Given the description of an element on the screen output the (x, y) to click on. 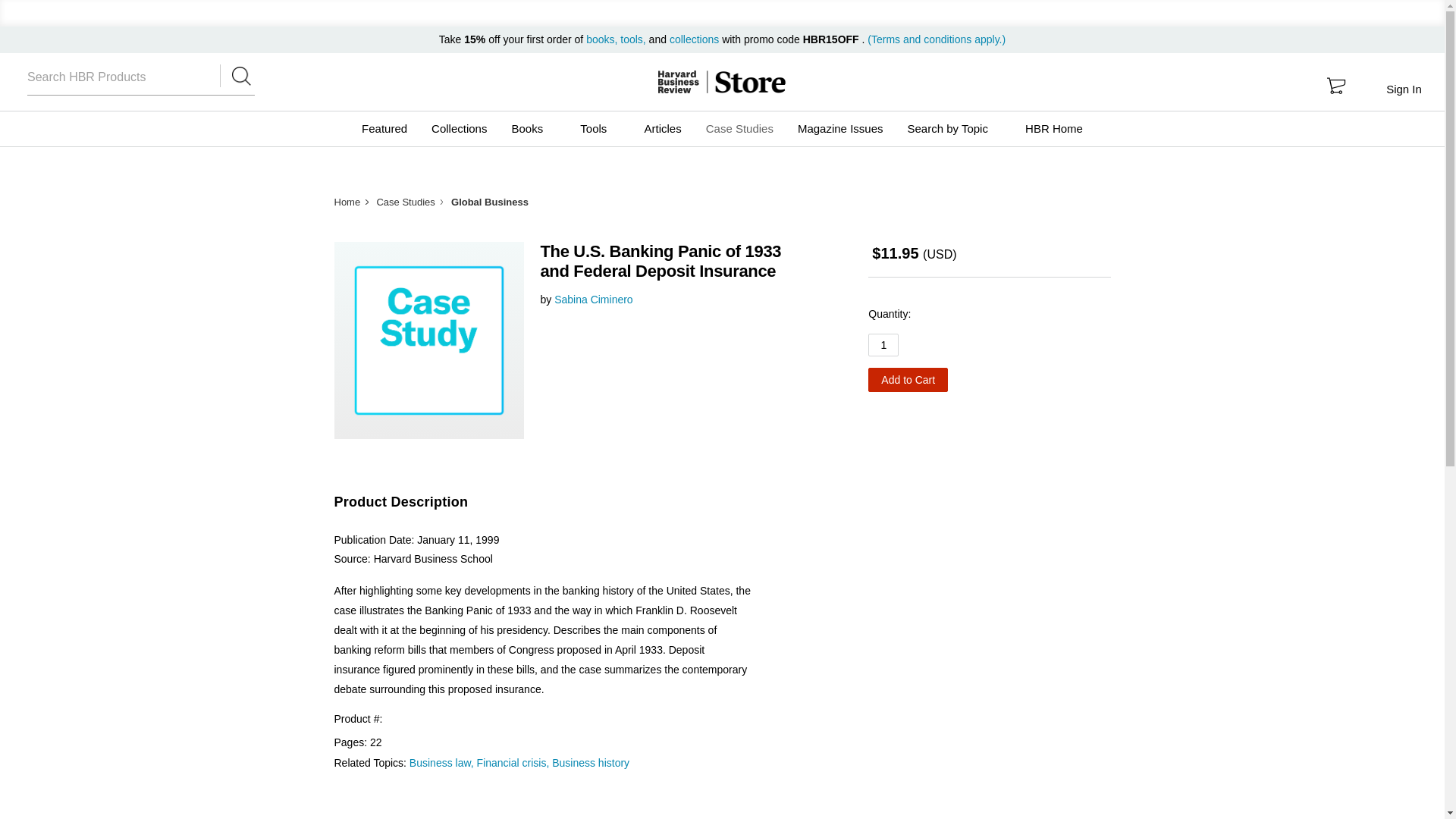
Books (533, 128)
books, (603, 39)
1 (882, 344)
Add to Cart (907, 379)
Collections (459, 128)
HBR.ORG - Prod (678, 81)
Featured (384, 128)
tools, (632, 39)
Sign In (1403, 88)
Tools (599, 128)
